Given the description of an element on the screen output the (x, y) to click on. 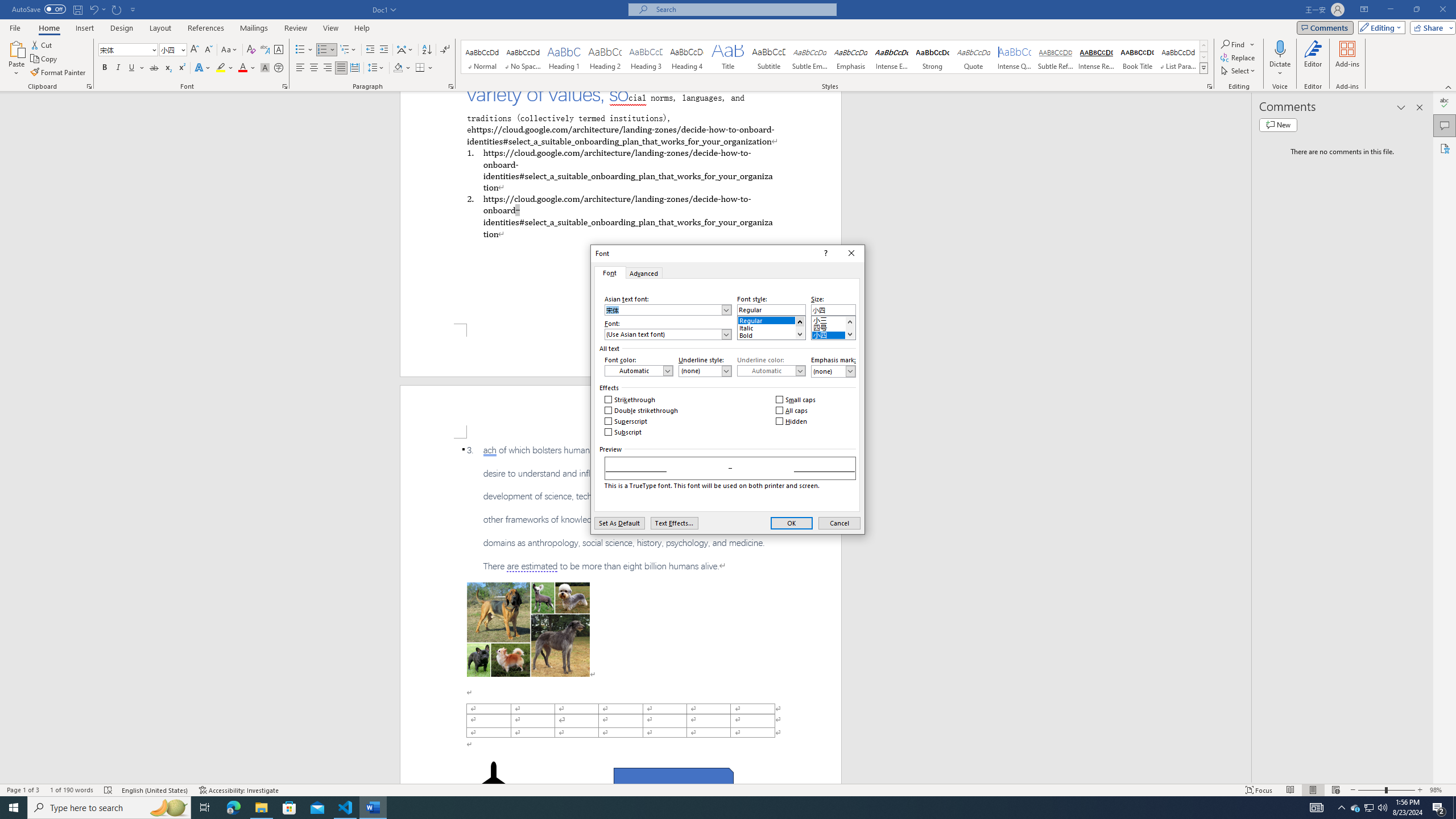
Line down (849, 334)
Italic (118, 67)
Morphological variation in six dogs (528, 629)
Notification Chevron (1341, 807)
Grow Font (193, 49)
Asian Layout (405, 49)
Word - 1 running window (373, 807)
Spelling and Grammar Check Errors (108, 790)
Intense Emphasis (891, 56)
RichEdit Control (833, 309)
Intense Reference (1095, 56)
